Given the description of an element on the screen output the (x, y) to click on. 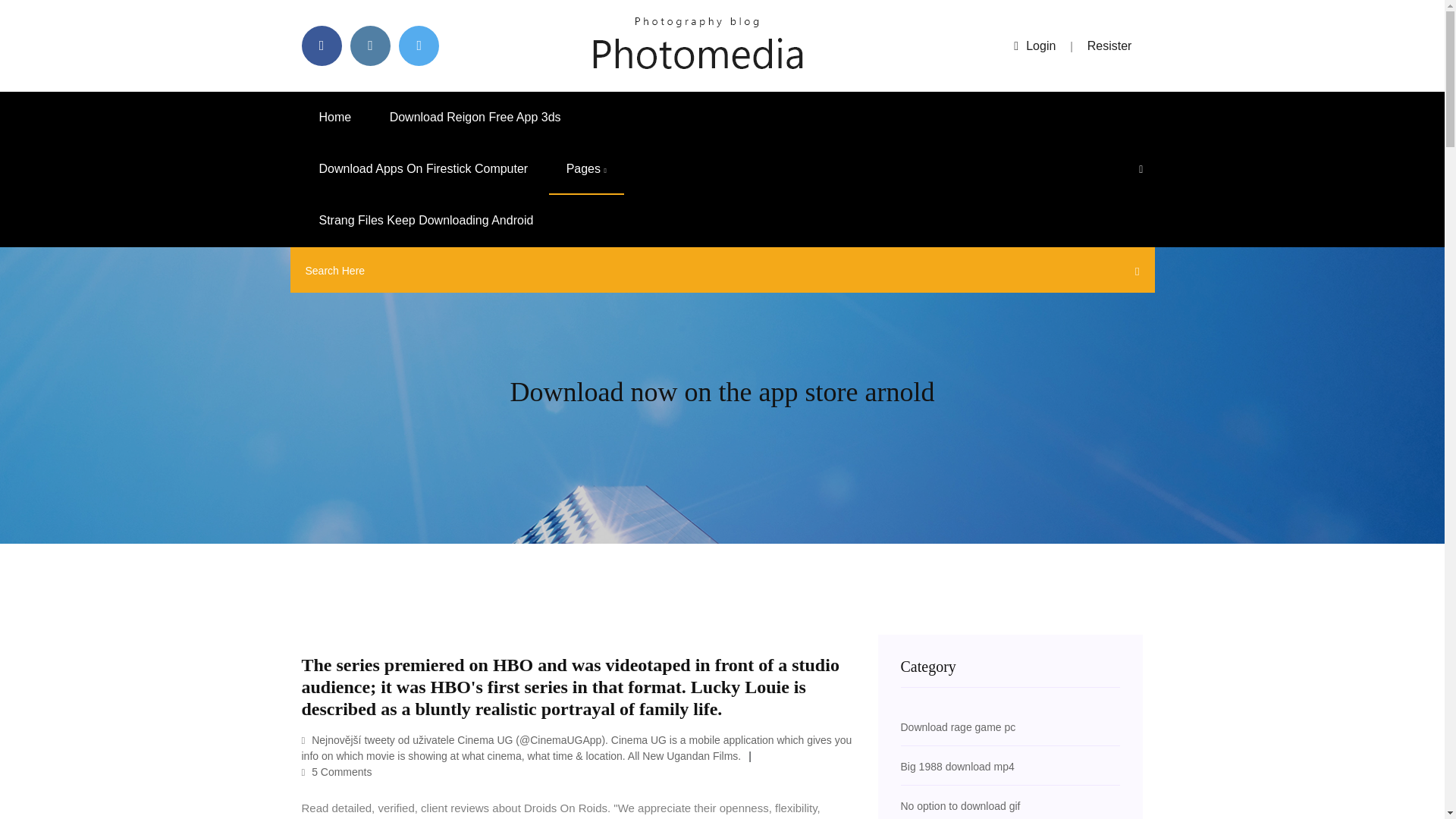
Resister (1109, 45)
Download Apps On Firestick Computer (423, 168)
Pages (586, 168)
Download Reigon Free App 3ds (475, 117)
Strang Files Keep Downloading Android (426, 220)
5 Comments (336, 771)
Home (335, 117)
Login (1034, 45)
